Given the description of an element on the screen output the (x, y) to click on. 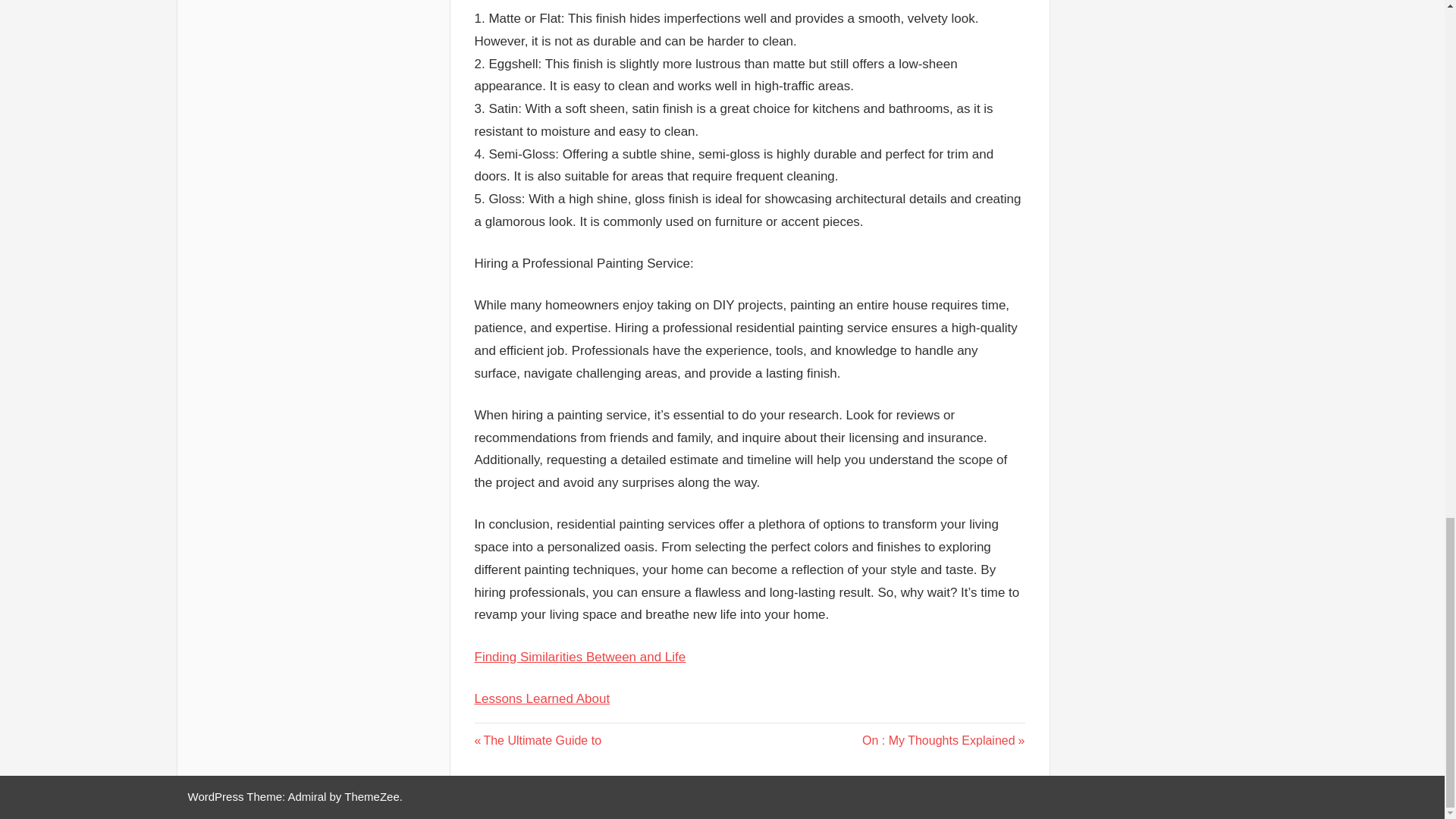
Lessons Learned About (542, 698)
Finding Similarities Between and Life (538, 739)
